Given the description of an element on the screen output the (x, y) to click on. 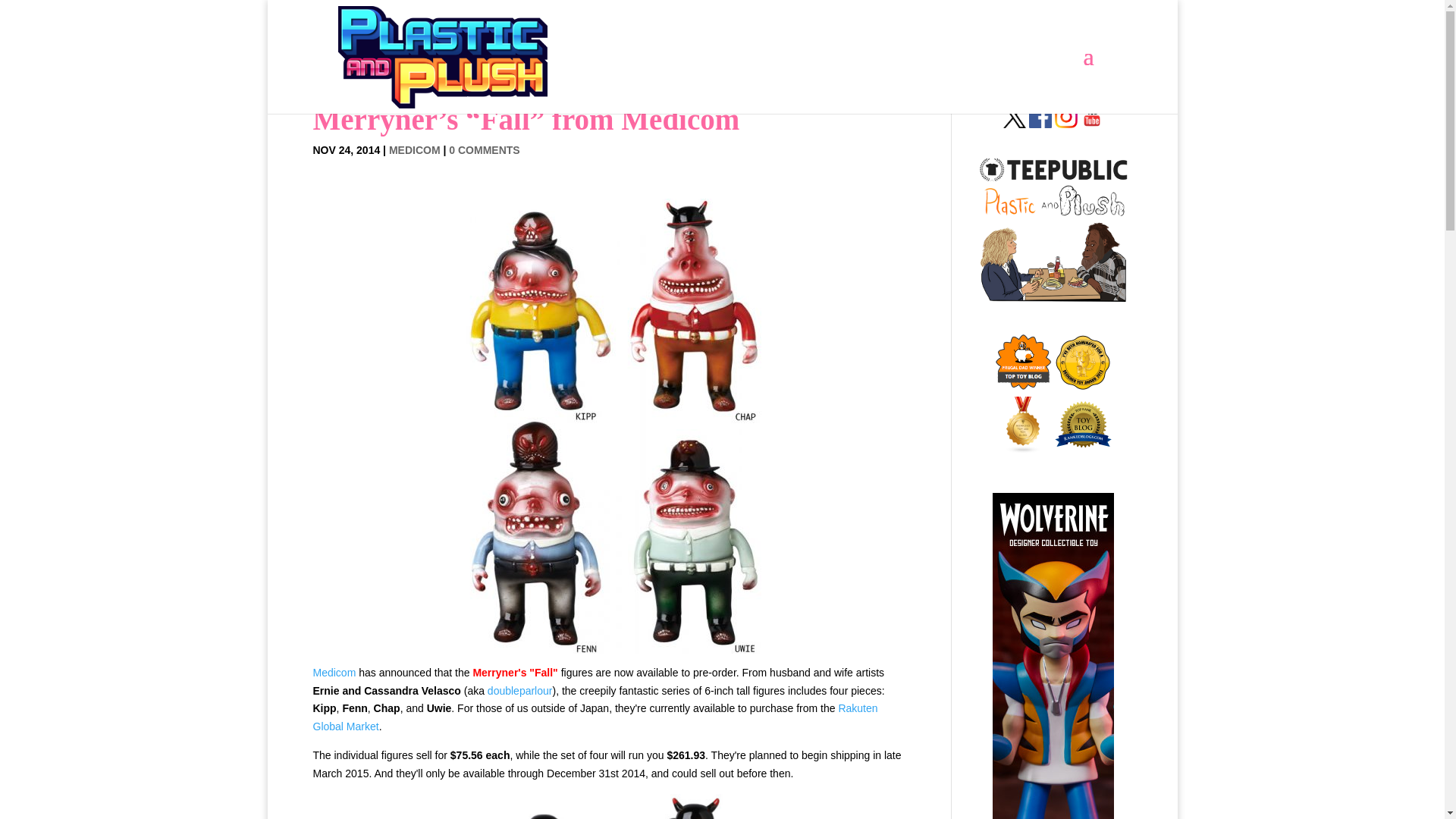
Medicom (334, 672)
doubleparlour (520, 690)
Toy Blogs (1022, 449)
MEDICOM (414, 150)
0 COMMENTS (483, 150)
Rakuten Global Market (595, 716)
